Given the description of an element on the screen output the (x, y) to click on. 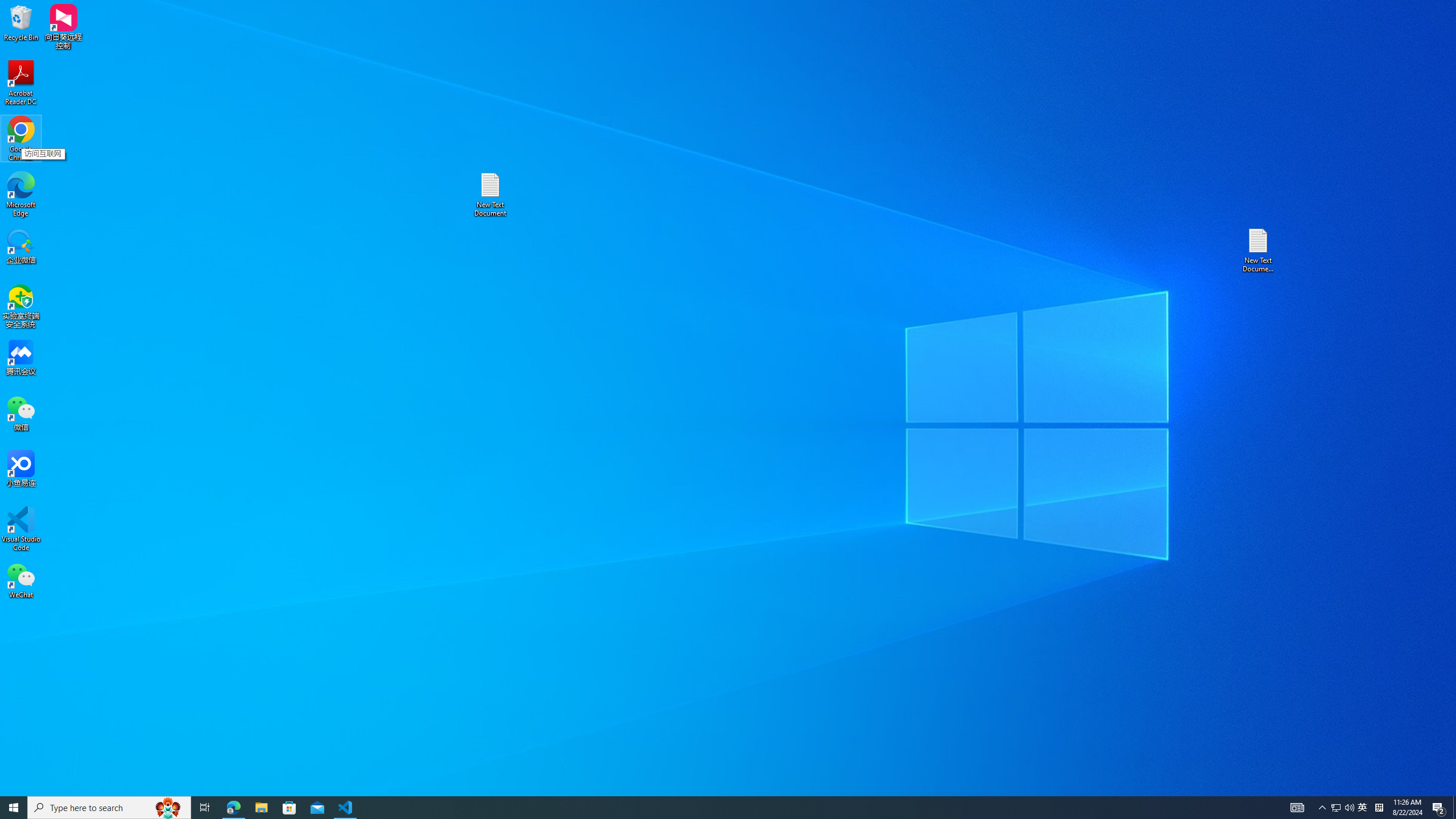
Visual Studio Code - 1 running window (345, 807)
Start (13, 807)
AutomationID: 4105 (1297, 807)
Action Center, 2 new notifications (1439, 807)
File Explorer (261, 807)
Microsoft Store (289, 807)
Visual Studio Code (21, 528)
Microsoft Edge (21, 194)
Search highlights icon opens search home window (167, 807)
New Text Document (2) (1258, 250)
